Given the description of an element on the screen output the (x, y) to click on. 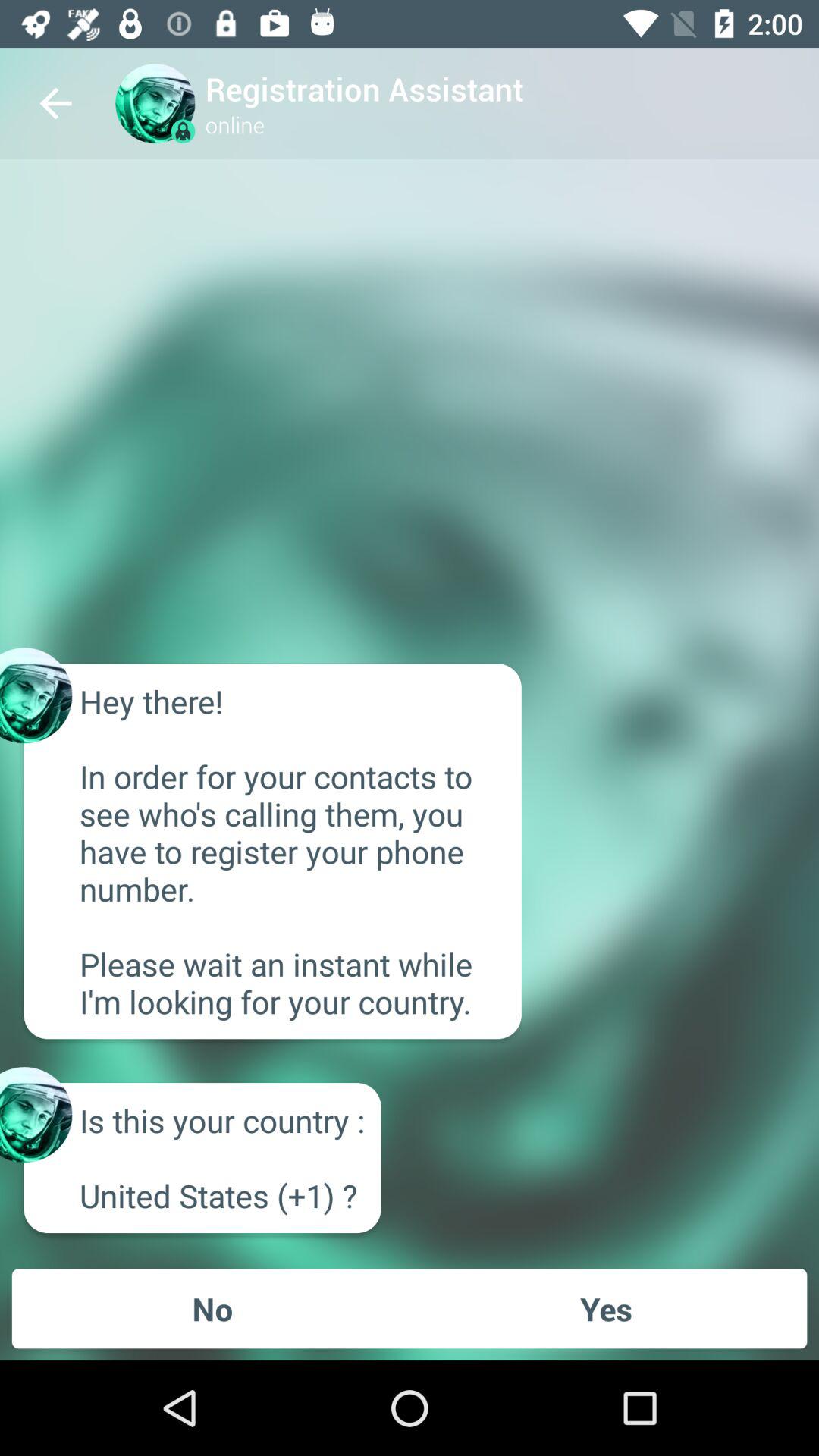
flip to no (212, 1308)
